Given the description of an element on the screen output the (x, y) to click on. 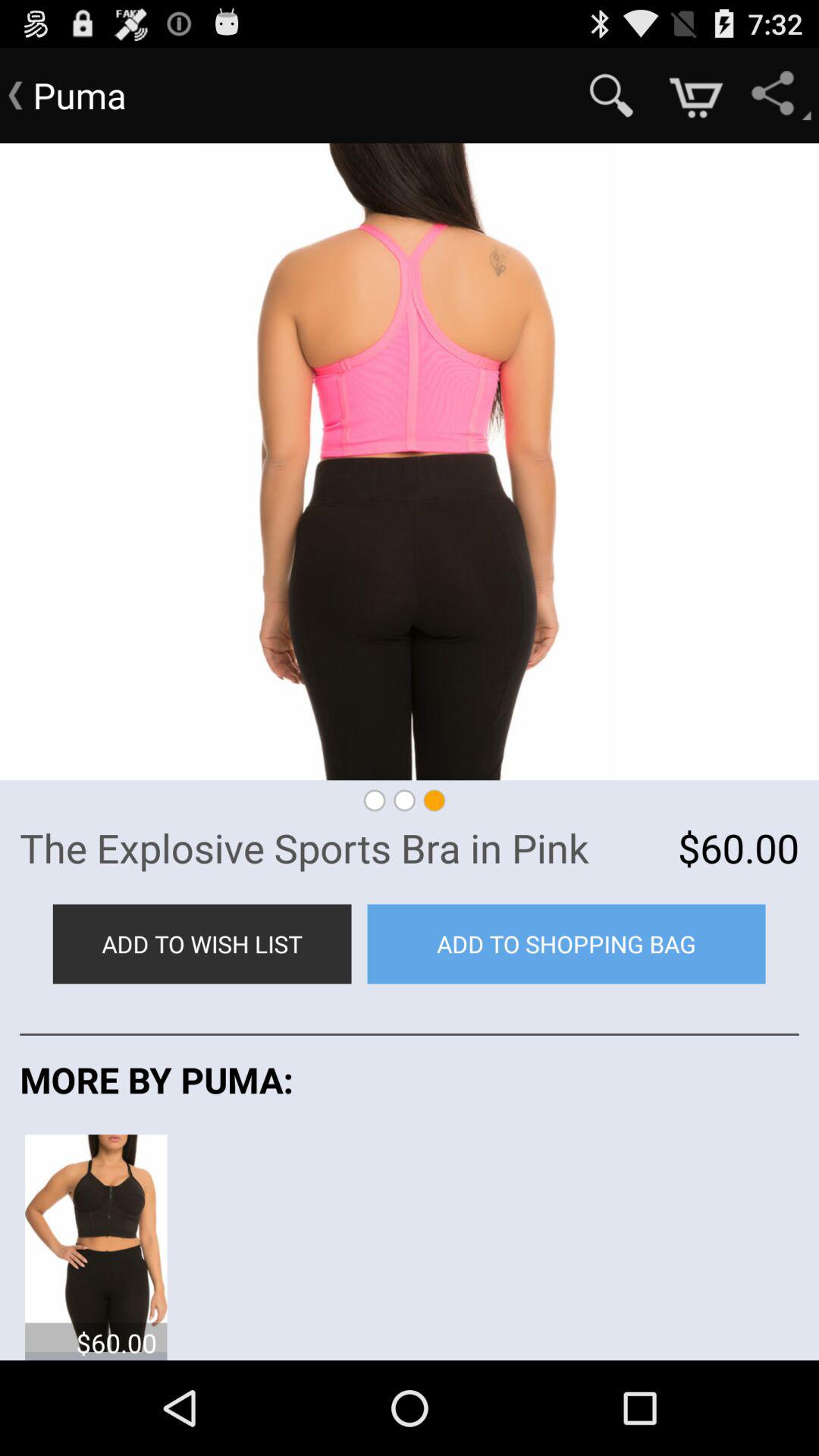
open icon at the top (409, 461)
